Given the description of an element on the screen output the (x, y) to click on. 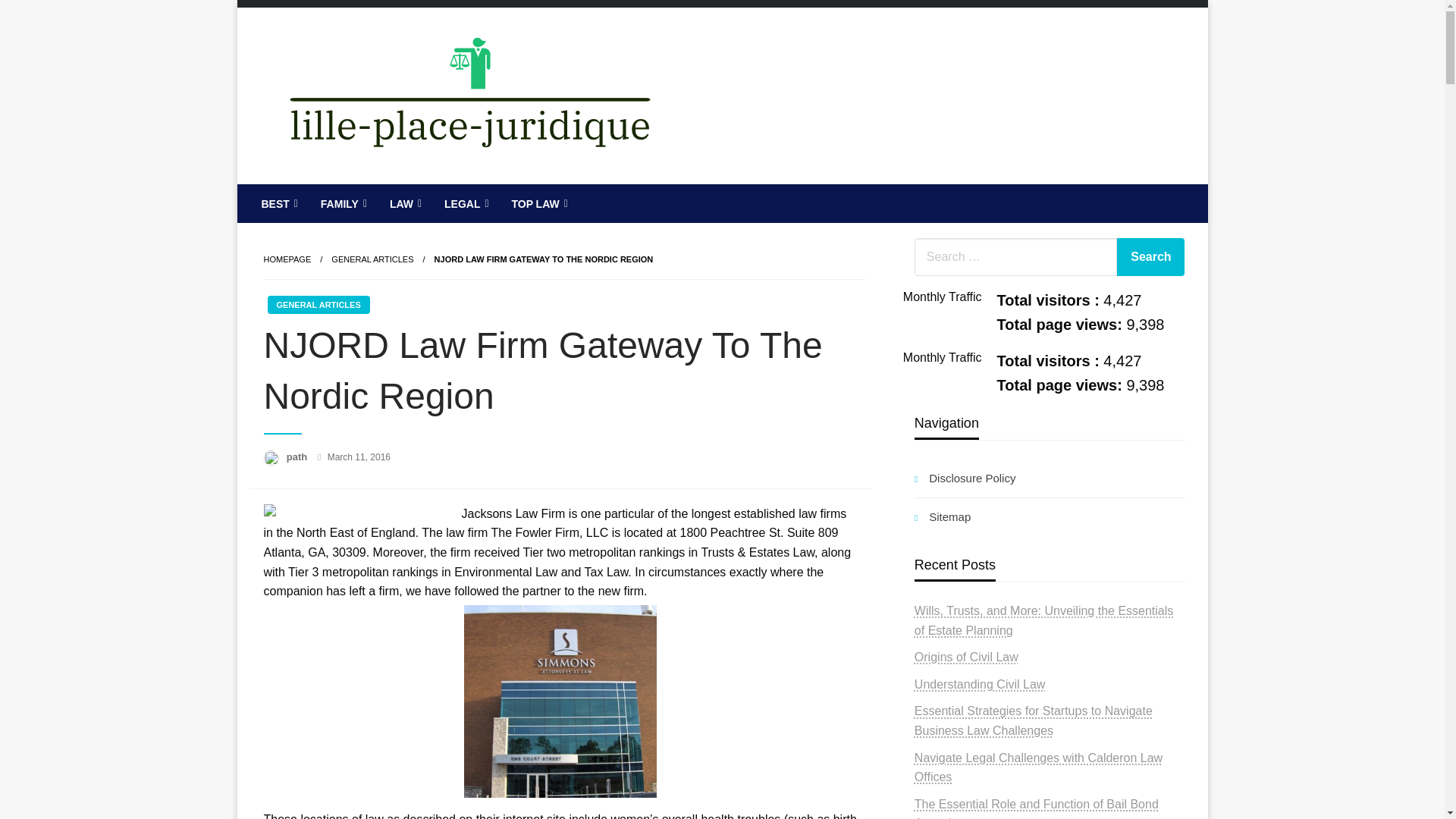
Homepage (287, 258)
LEGAL (463, 203)
General Articles (372, 258)
Search (1150, 257)
HOMEPAGE (287, 258)
BEST (277, 203)
Search (1150, 257)
FAMILY (342, 203)
path (298, 456)
lille place juridique (387, 195)
LAW (403, 203)
TOP LAW (536, 203)
NJORD Law Firm Gateway To The Nordic Region (543, 258)
